Given the description of an element on the screen output the (x, y) to click on. 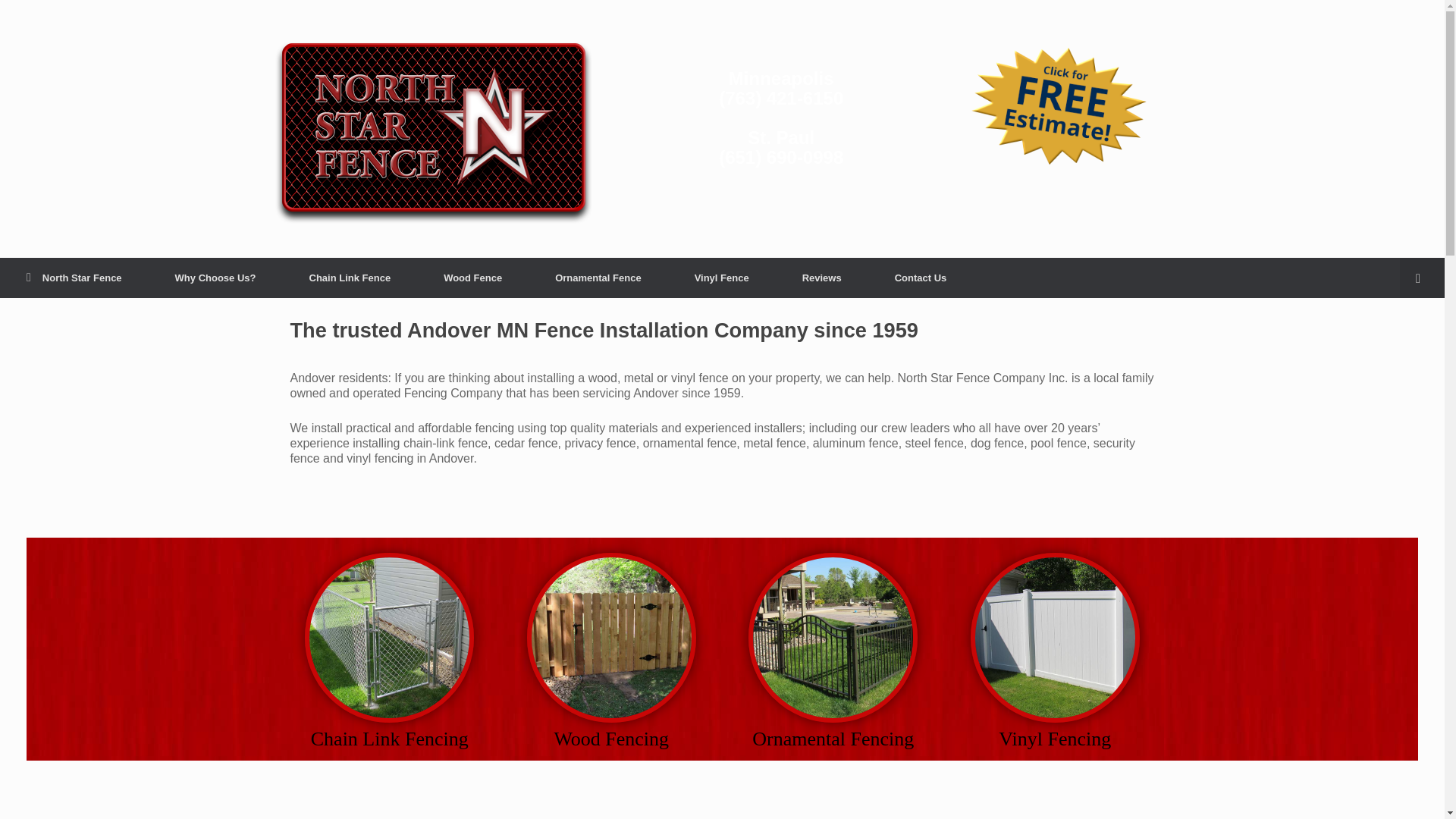
Why Choose Us? (215, 277)
Vinyl Fencing (1054, 650)
North Star Fence (74, 277)
Vinyl Fence (722, 277)
Wood Fencing (611, 650)
Reviews (821, 277)
Chain Link Fencing (389, 650)
Wood Fence (472, 277)
Ornamental Fencing (833, 650)
Chain Link Fence (349, 277)
Contact Us (920, 277)
Ornamental Fence (597, 277)
